Given the description of an element on the screen output the (x, y) to click on. 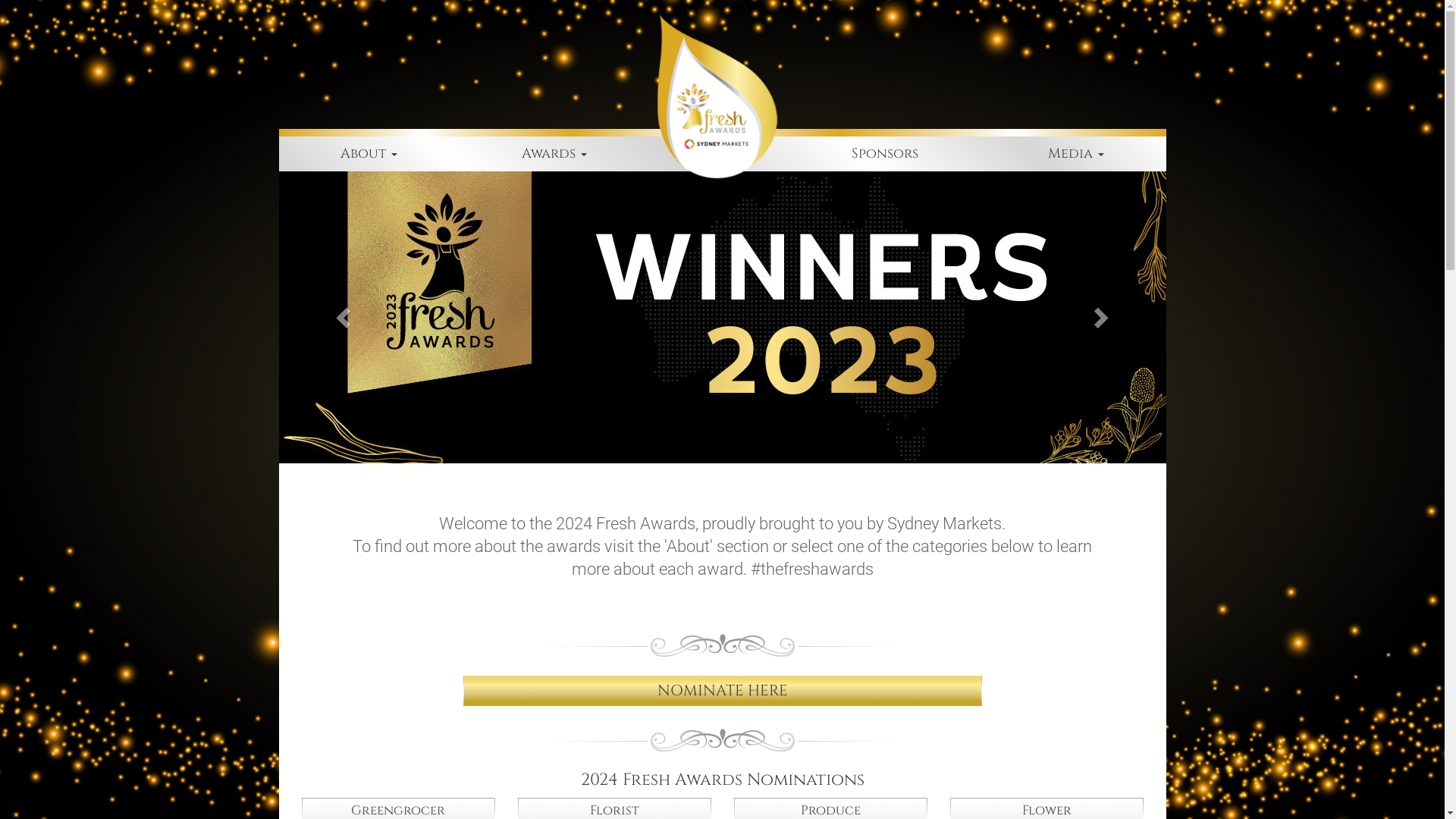
Sponsors Element type: text (884, 153)
About Element type: text (369, 153)
Next Element type: text (1099, 317)
2024 Fresh Awards Nominations Element type: text (722, 779)
Awards Element type: text (553, 153)
Media Element type: text (1075, 153)
NOMINATE HERE Element type: text (721, 690)
Previous Element type: text (345, 317)
